Given the description of an element on the screen output the (x, y) to click on. 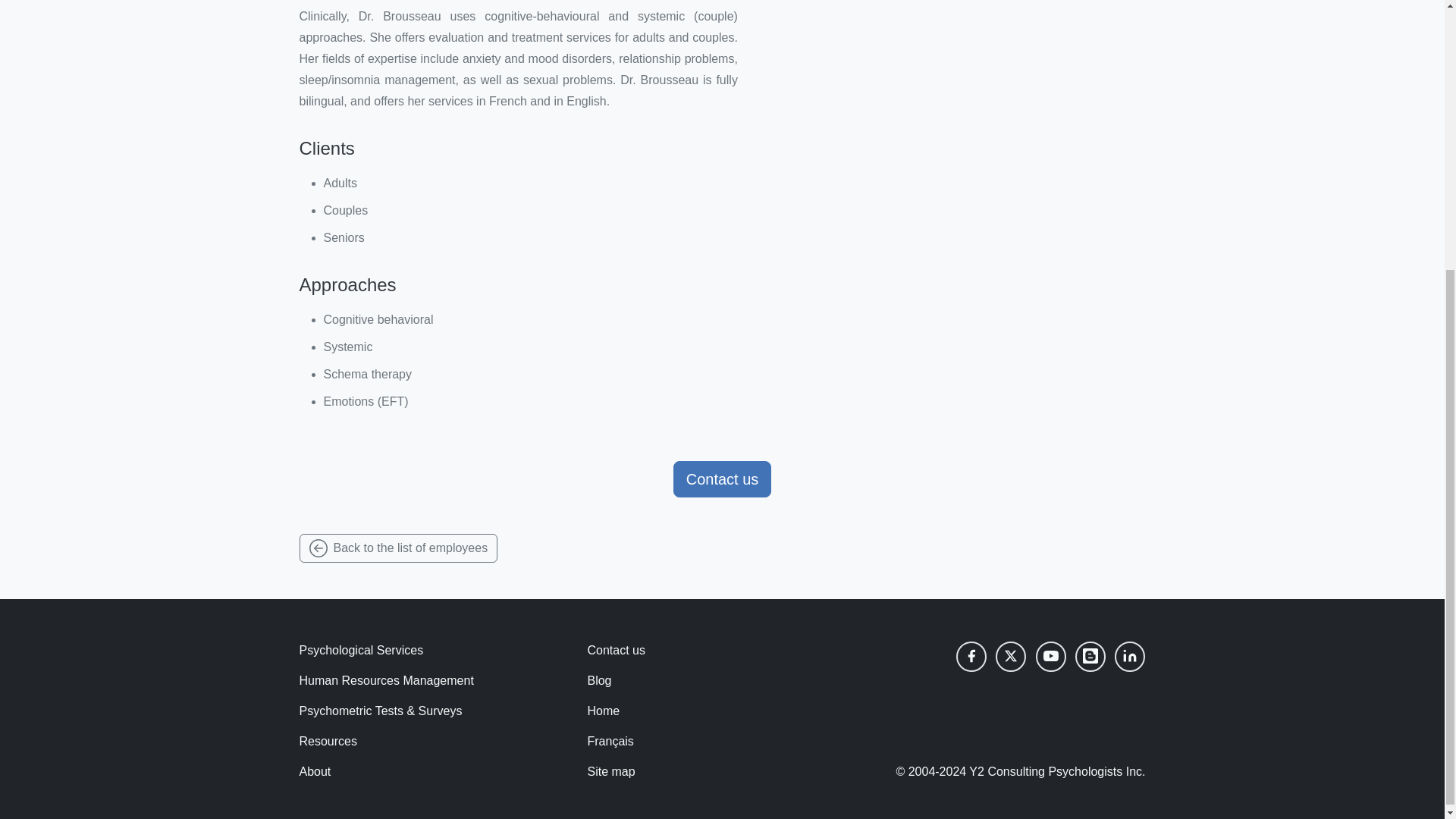
Y2 Consulting Psychologists YouTube page (1050, 656)
Y2 Consulting Psychologists Facebook page (971, 656)
See our contact information (721, 479)
Y2 Consulting Psychologists LinkedIn page (1129, 656)
Y2 Consulting Psychologists Blogger page (1090, 656)
